Given the description of an element on the screen output the (x, y) to click on. 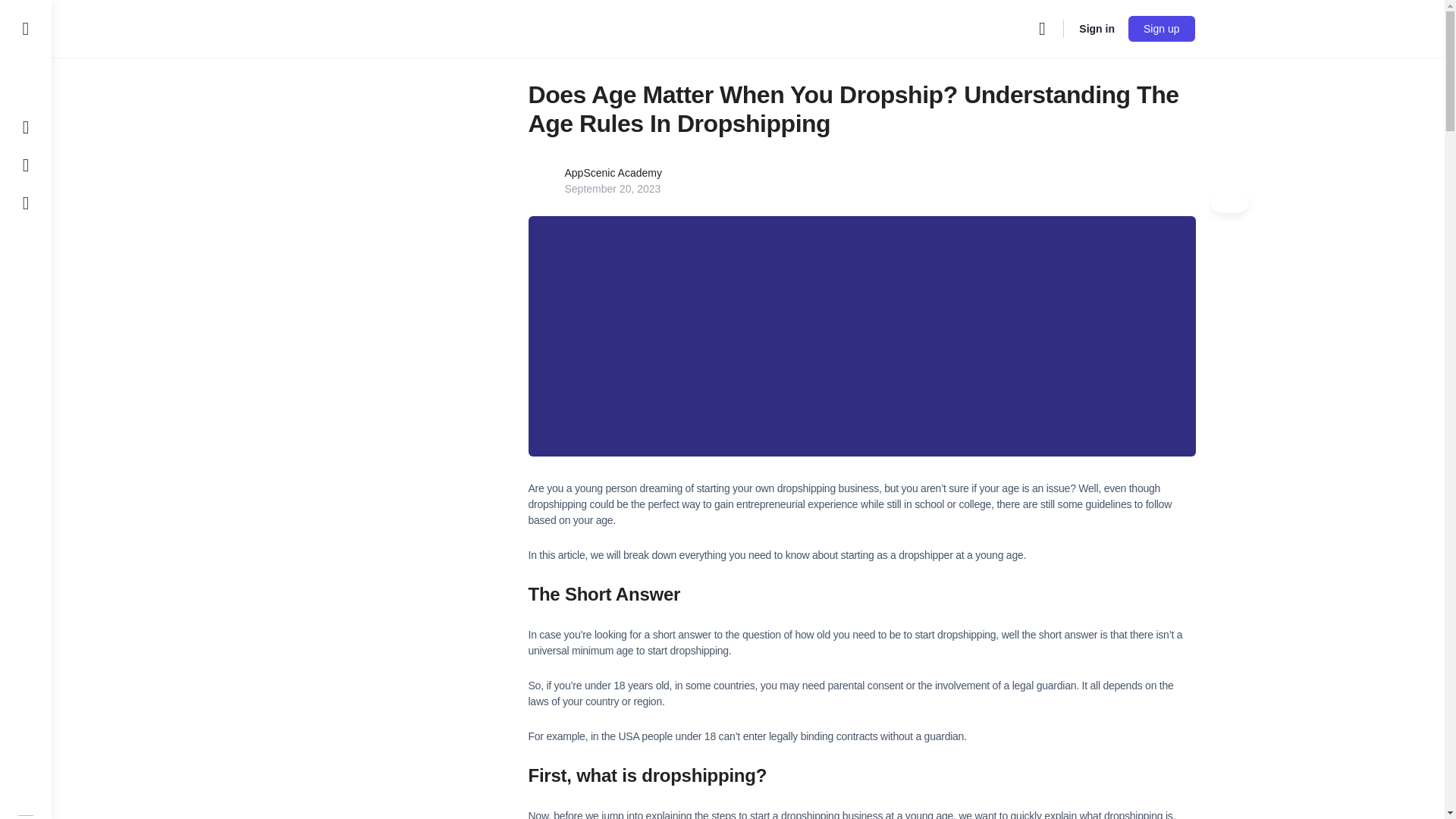
Sign in (1097, 28)
Sign up (1160, 28)
AppScenic Academy (612, 173)
September 20, 2023 (612, 188)
